Given the description of an element on the screen output the (x, y) to click on. 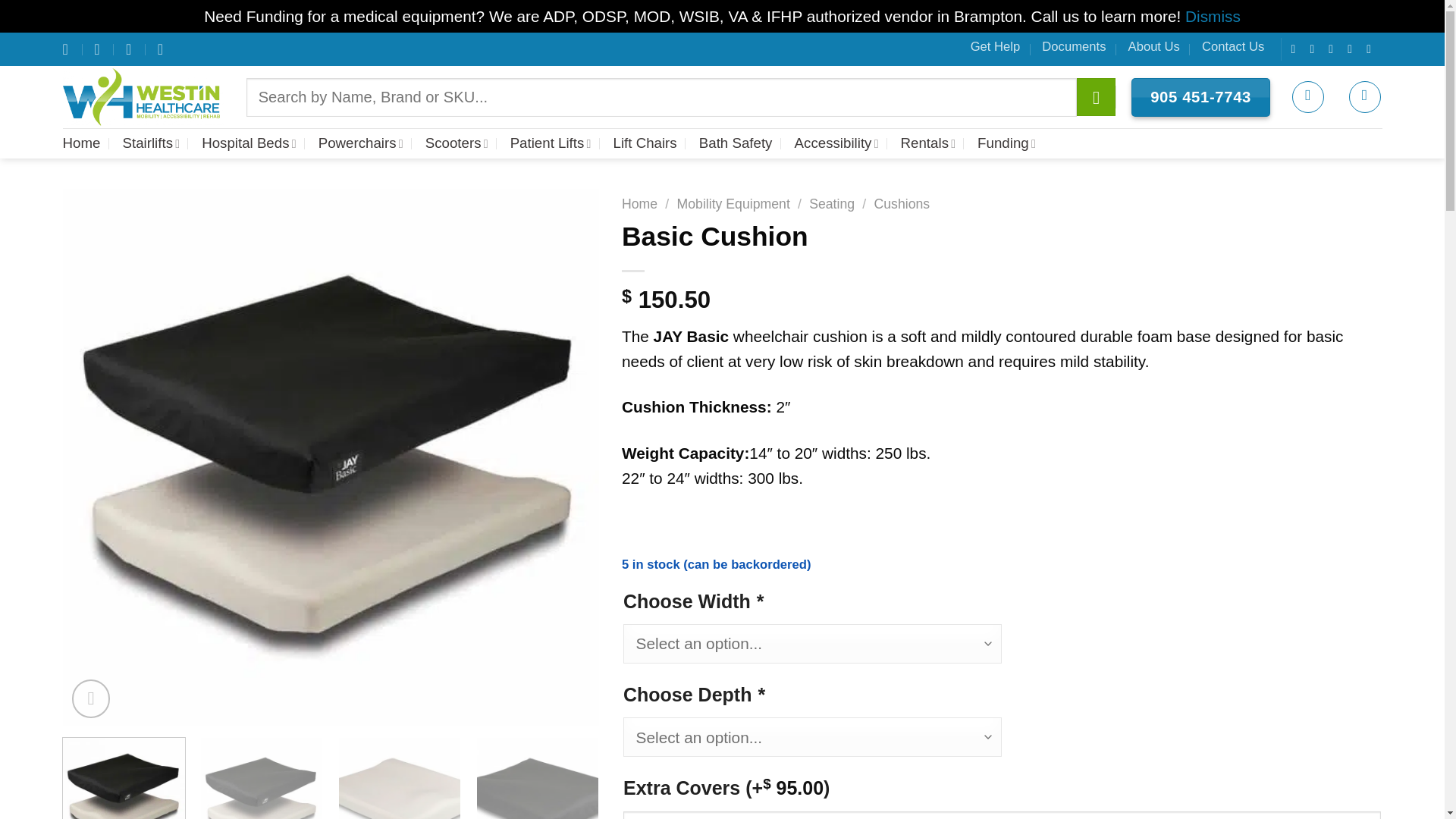
Home (81, 142)
Get Help (995, 46)
Search (1096, 96)
Send us an email (1353, 48)
About Us (1153, 46)
19054517743 (162, 49)
Follow on LinkedIn (1372, 48)
Stairlifts (150, 142)
Follow on Facebook (1296, 48)
Documents (1073, 46)
Dismiss (1212, 16)
Follow on Twitter (1333, 48)
Contact Us (1232, 46)
Follow on Instagram (1315, 48)
Unit 7, 15 Fisherman Drive, Brampton, ON, L7A1B7 (66, 49)
